Given the description of an element on the screen output the (x, y) to click on. 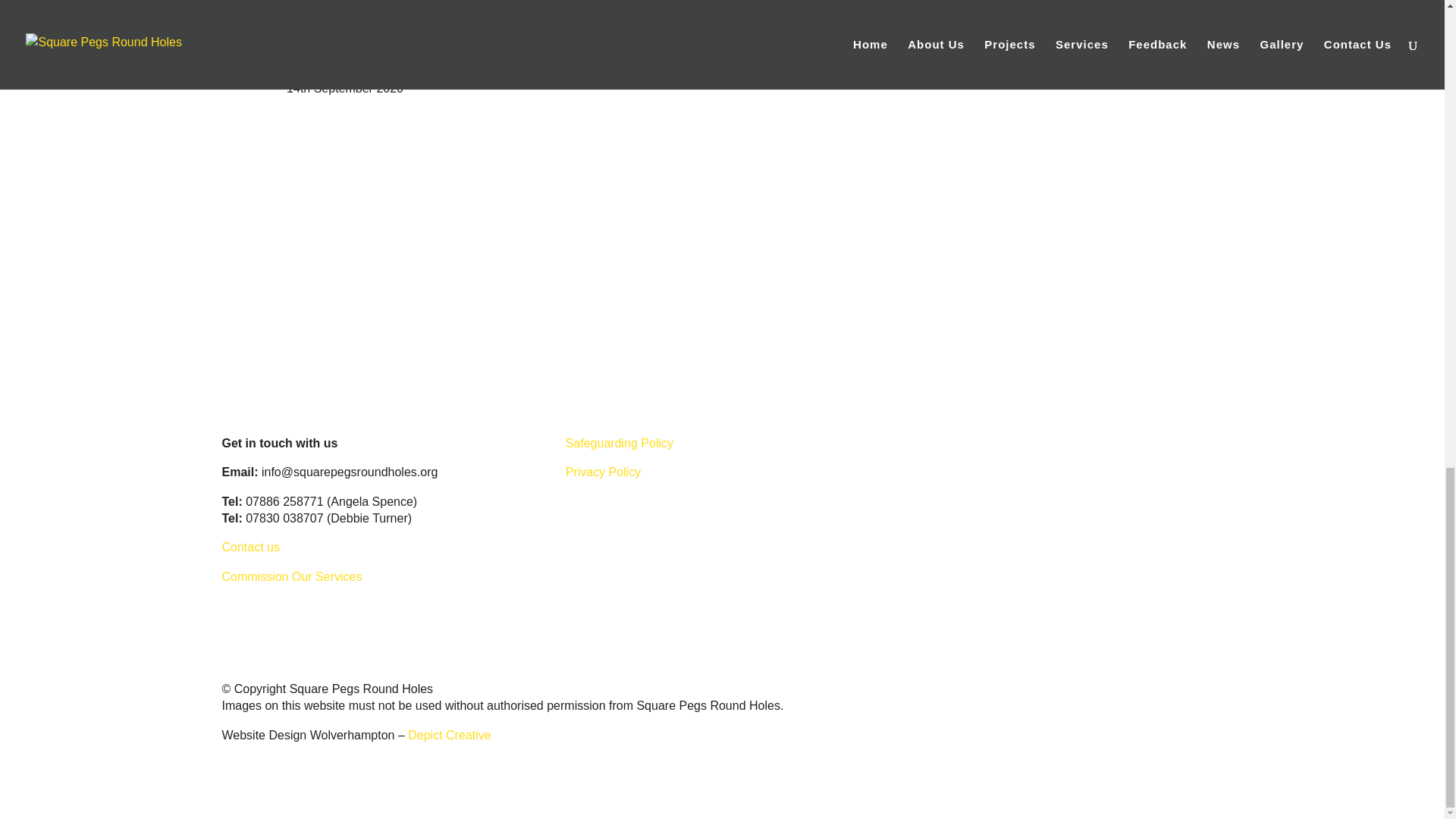
Commission Our Services (291, 576)
Contact us (250, 546)
Safeguarding Policy (619, 442)
Privacy Policy (604, 472)
Depict Creative (448, 735)
Follow on Twitter (233, 612)
Follow on Facebook (263, 612)
